Given the description of an element on the screen output the (x, y) to click on. 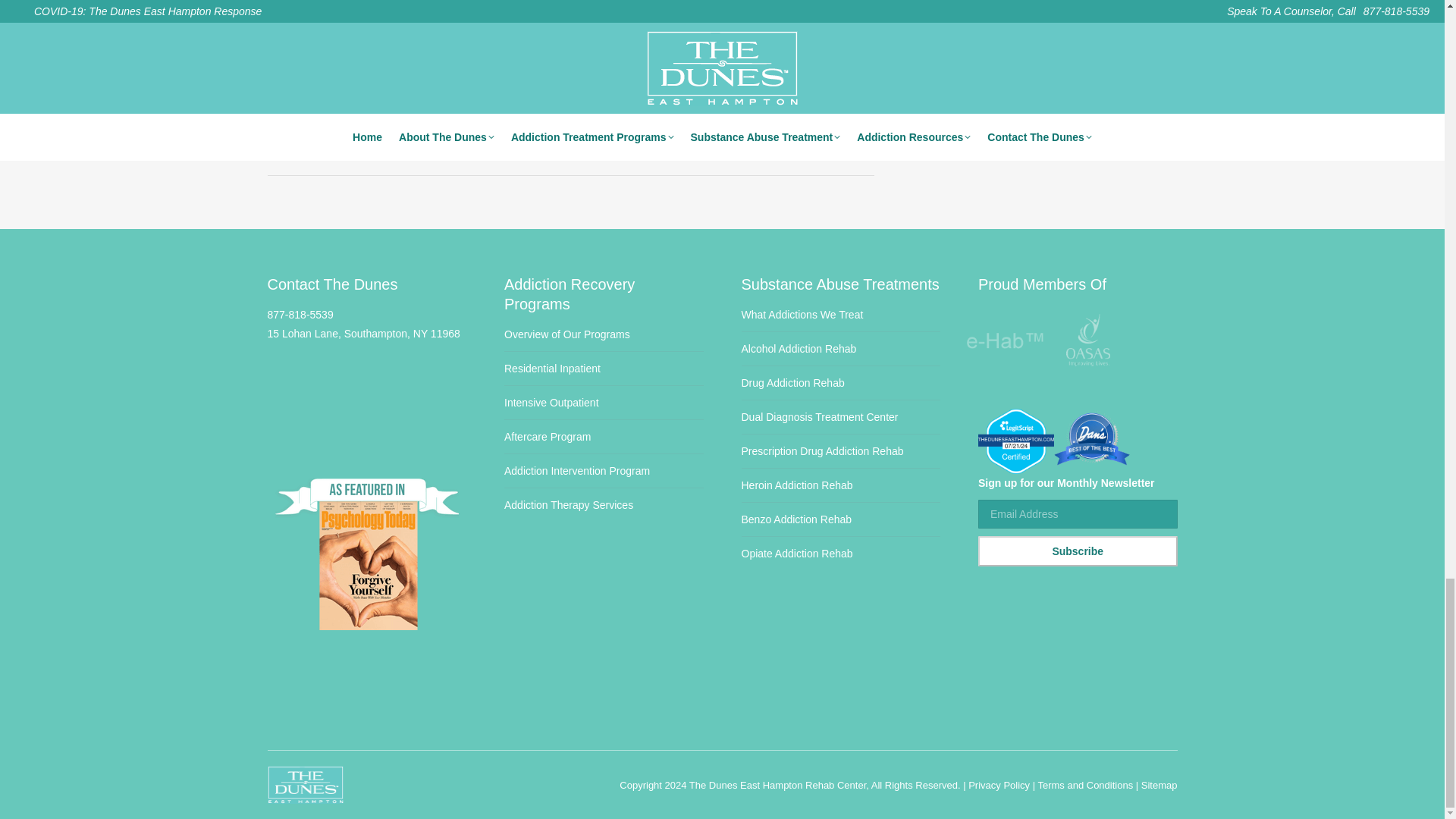
Subscribe (1077, 551)
